Given the description of an element on the screen output the (x, y) to click on. 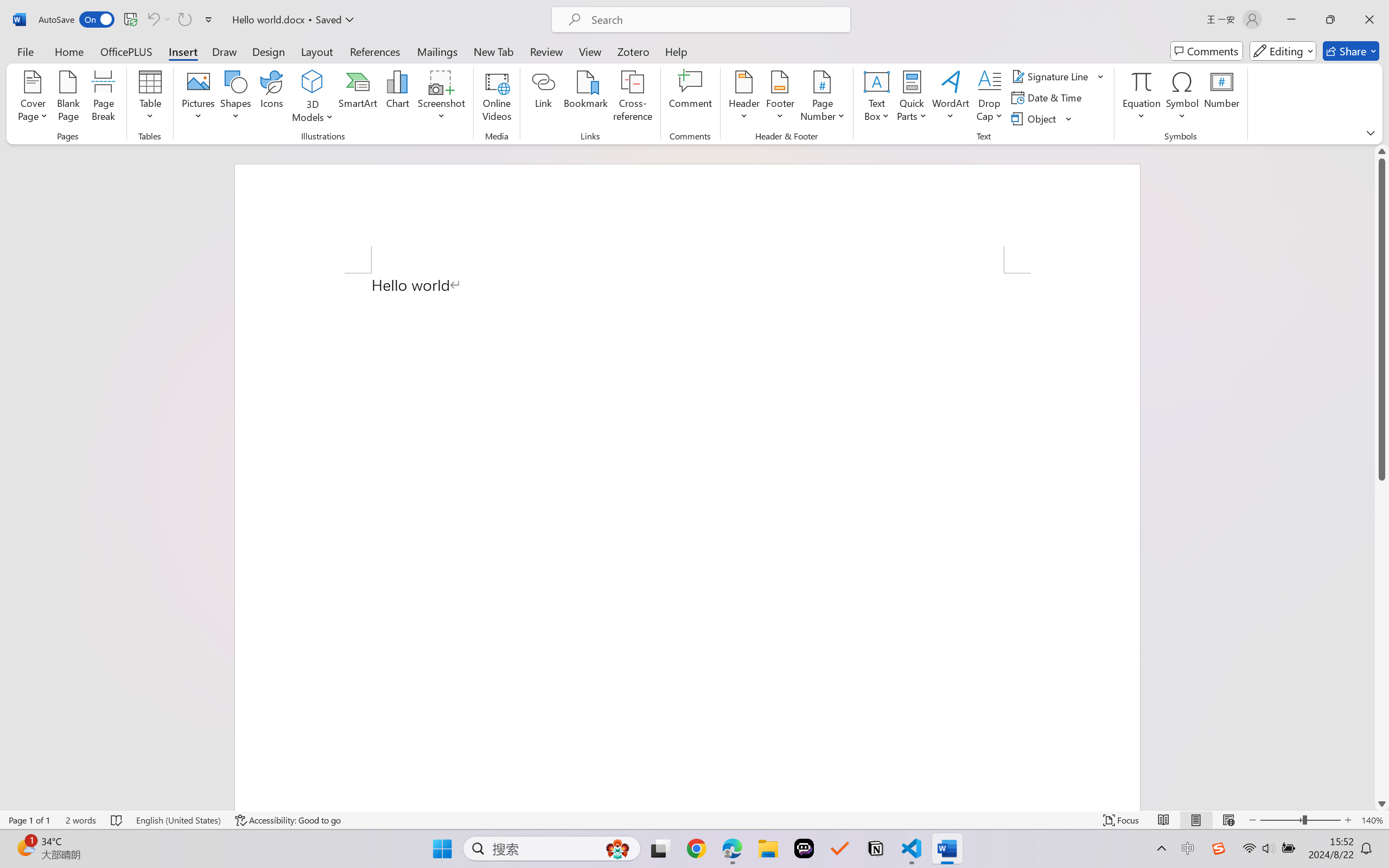
Delete (413, 62)
Show Comments (499, 62)
Accept Change (570, 51)
Check Accessibility (91, 51)
Language (196, 62)
